Given the description of an element on the screen output the (x, y) to click on. 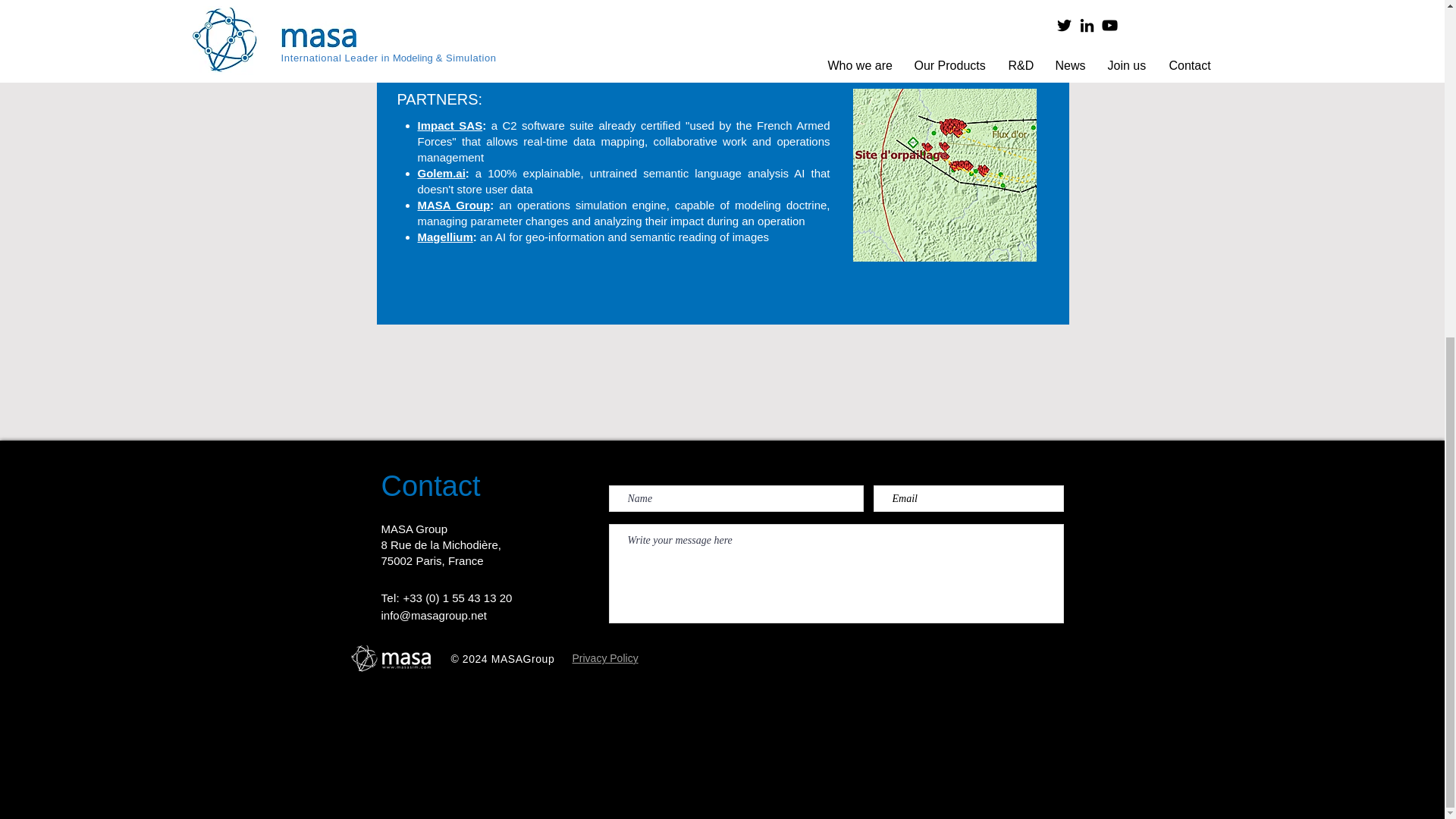
Privacy Policy (604, 657)
Impact SAS (448, 124)
MASA Group (452, 205)
Golem.ai (440, 173)
Magellium (443, 236)
